Given the description of an element on the screen output the (x, y) to click on. 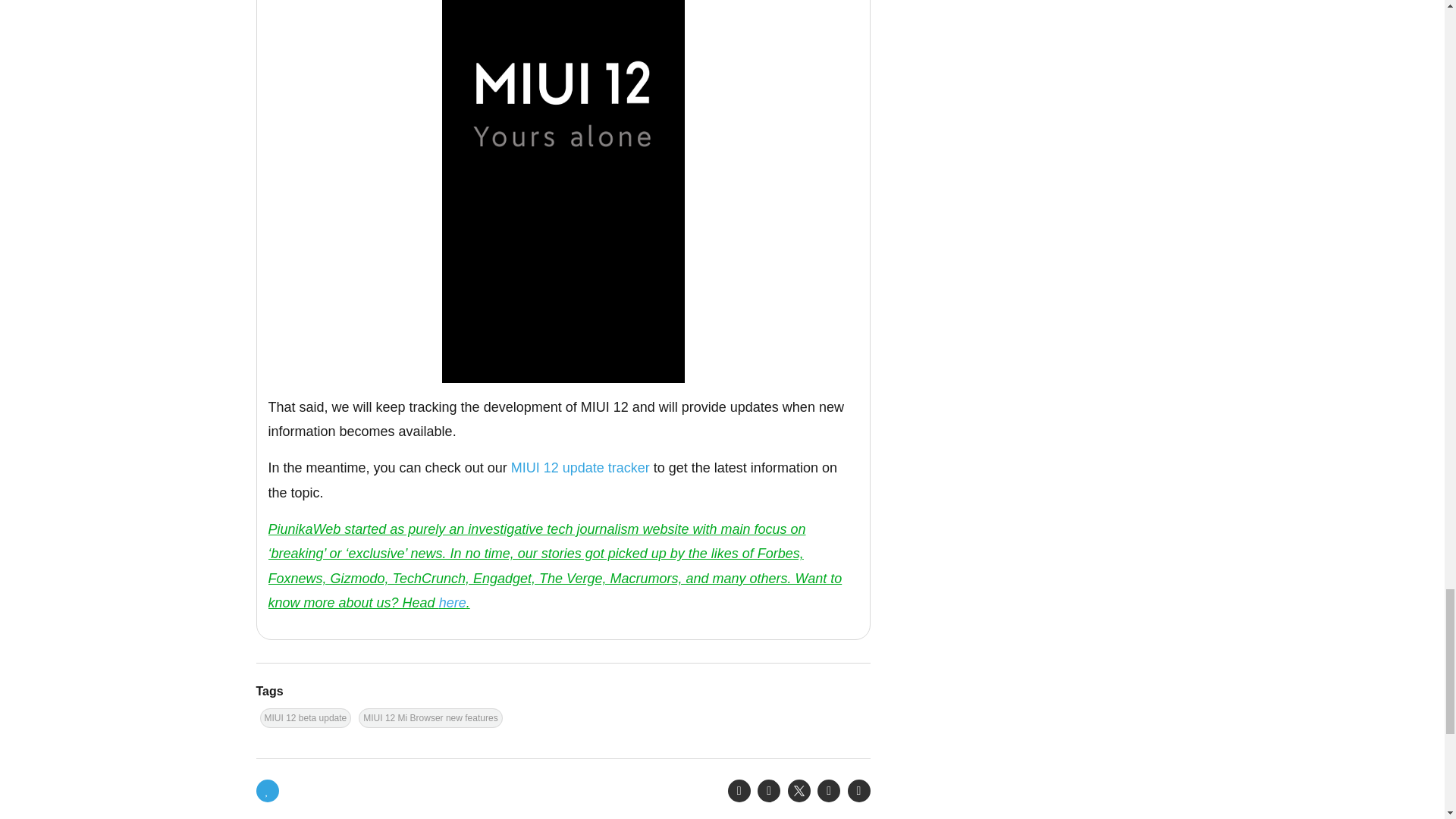
MIUI 12 beta update (304, 718)
MIUI 12 Mi Browser new features (430, 718)
Love (267, 790)
